Given the description of an element on the screen output the (x, y) to click on. 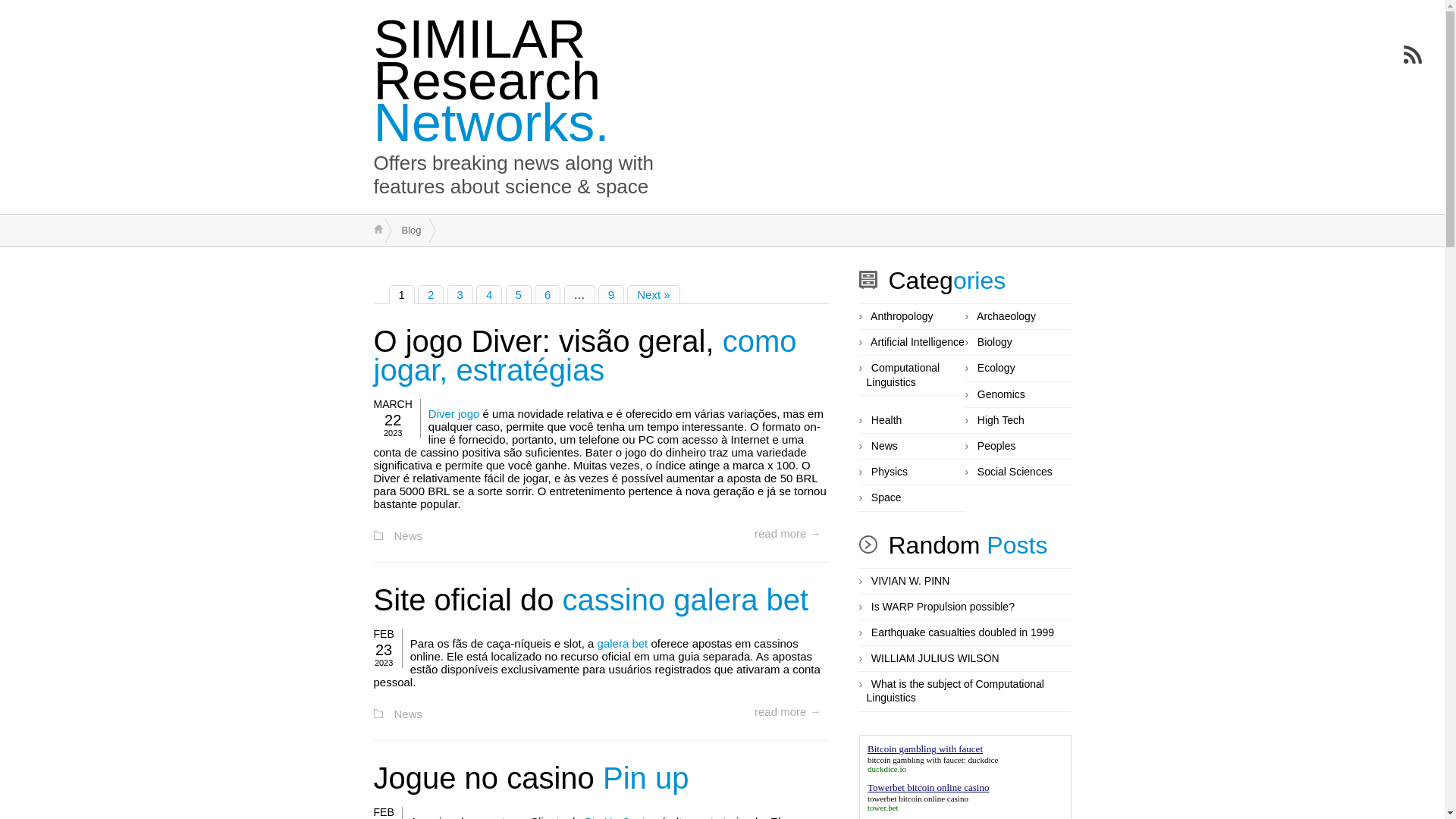
6 Element type: text (547, 294)
5 Element type: text (518, 294)
bitcoin gambling with faucet: duckdice Element type: text (932, 759)
4 Element type: text (489, 294)
  Element type: text (377, 228)
Archaeology Element type: text (1005, 316)
Peoples Element type: text (996, 446)
SIMILAR Research Networks. Element type: text (490, 80)
9 Element type: text (611, 294)
3 Element type: text (460, 294)
duckdice.io Element type: text (886, 768)
Anthropology Element type: text (901, 316)
Biology Element type: text (994, 342)
Is WARP Propulsion possible? Element type: text (942, 607)
WILLIAM JULIUS WILSON Element type: text (935, 658)
Health Element type: text (886, 420)
News Element type: text (408, 714)
Ecology Element type: text (996, 368)
Diver jogo Element type: text (454, 414)
Computational Linguistics Element type: text (902, 375)
Genomics Element type: text (1001, 394)
Earthquake casualties doubled in 1999 Element type: text (962, 633)
Bitcoin gambling with faucet Element type: text (924, 748)
High Tech Element type: text (1000, 420)
Site oficial do cassino galera bet Element type: text (590, 599)
2 Element type: text (430, 294)
Physics Element type: text (889, 472)
News Element type: text (884, 446)
Subscribe to RSS Feed Element type: hover (1412, 54)
galera bet Element type: text (622, 644)
Space Element type: text (886, 498)
VIVIAN W. PINN Element type: text (910, 581)
Social Sciences Element type: text (1014, 472)
News Element type: text (408, 536)
towerbet bitcoin online casino Element type: text (917, 798)
Jogue no casino Pin up Element type: text (530, 777)
What is the subject of Computational Linguistics Element type: text (954, 691)
tower.bet Element type: text (882, 807)
Towerbet bitcoin online casino Element type: text (927, 787)
Artificial Intelligence Element type: text (917, 342)
